Given the description of an element on the screen output the (x, y) to click on. 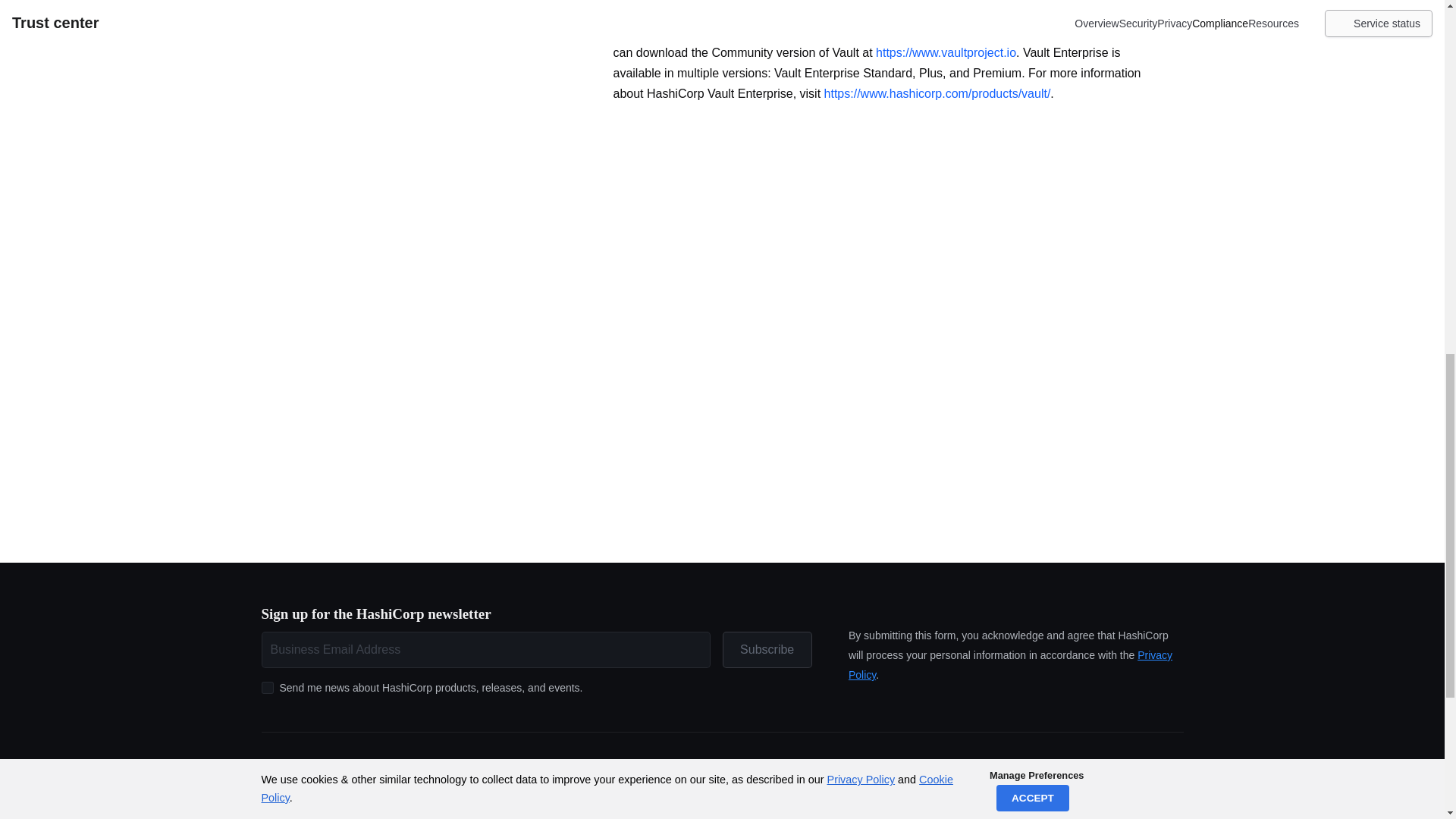
on (266, 687)
